Given the description of an element on the screen output the (x, y) to click on. 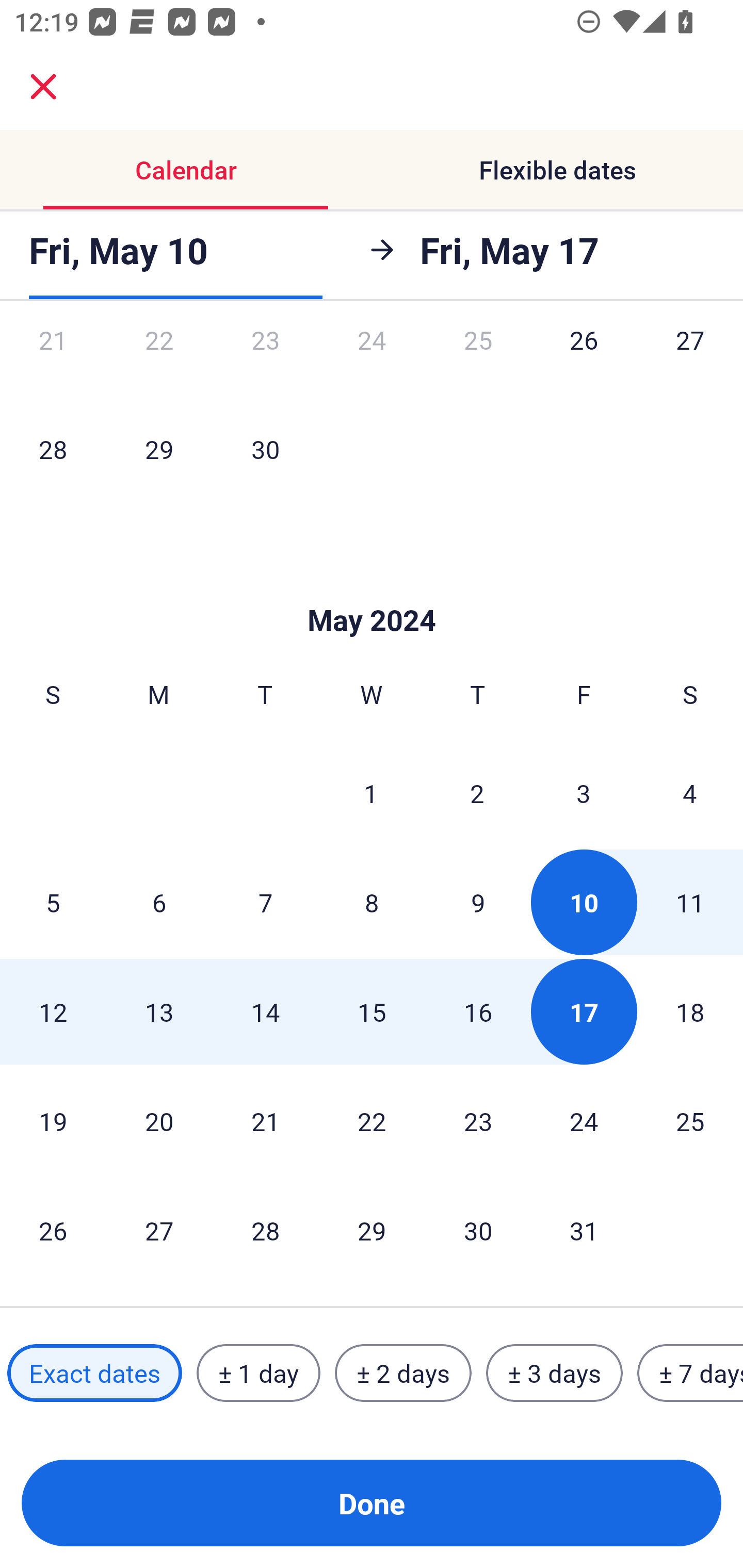
close. (43, 86)
Flexible dates (557, 170)
21 Sunday, April 21, 2024 (53, 361)
22 Monday, April 22, 2024 (159, 361)
23 Tuesday, April 23, 2024 (265, 361)
24 Wednesday, April 24, 2024 (371, 361)
25 Thursday, April 25, 2024 (477, 361)
26 Friday, April 26, 2024 (584, 361)
27 Saturday, April 27, 2024 (690, 361)
28 Sunday, April 28, 2024 (53, 448)
29 Monday, April 29, 2024 (159, 448)
30 Tuesday, April 30, 2024 (265, 448)
Skip to Done (371, 589)
1 Wednesday, May 1, 2024 (371, 792)
2 Thursday, May 2, 2024 (477, 792)
3 Friday, May 3, 2024 (583, 792)
4 Saturday, May 4, 2024 (689, 792)
5 Sunday, May 5, 2024 (53, 901)
6 Monday, May 6, 2024 (159, 901)
7 Tuesday, May 7, 2024 (265, 901)
8 Wednesday, May 8, 2024 (371, 901)
9 Thursday, May 9, 2024 (477, 901)
18 Saturday, May 18, 2024 (690, 1011)
19 Sunday, May 19, 2024 (53, 1120)
20 Monday, May 20, 2024 (159, 1120)
21 Tuesday, May 21, 2024 (265, 1120)
22 Wednesday, May 22, 2024 (371, 1120)
23 Thursday, May 23, 2024 (477, 1120)
24 Friday, May 24, 2024 (584, 1120)
25 Saturday, May 25, 2024 (690, 1120)
26 Sunday, May 26, 2024 (53, 1229)
27 Monday, May 27, 2024 (159, 1229)
28 Tuesday, May 28, 2024 (265, 1229)
29 Wednesday, May 29, 2024 (371, 1229)
30 Thursday, May 30, 2024 (477, 1229)
31 Friday, May 31, 2024 (584, 1229)
Exact dates (94, 1372)
± 1 day (258, 1372)
± 2 days (403, 1372)
± 3 days (553, 1372)
± 7 days (690, 1372)
Done (371, 1502)
